Given the description of an element on the screen output the (x, y) to click on. 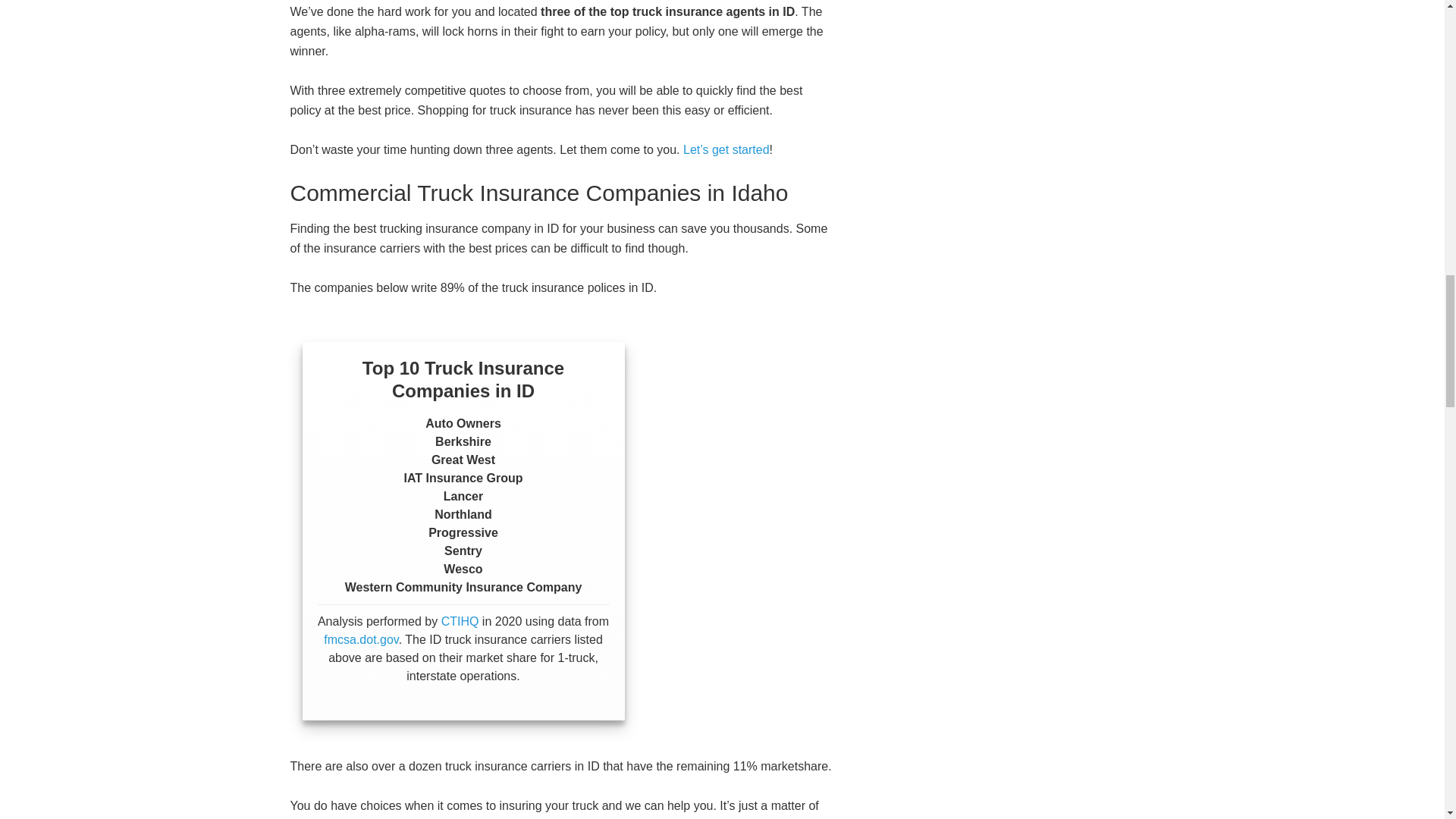
fmcsa.dot.gov (360, 639)
CTIHQ (460, 621)
